Given the description of an element on the screen output the (x, y) to click on. 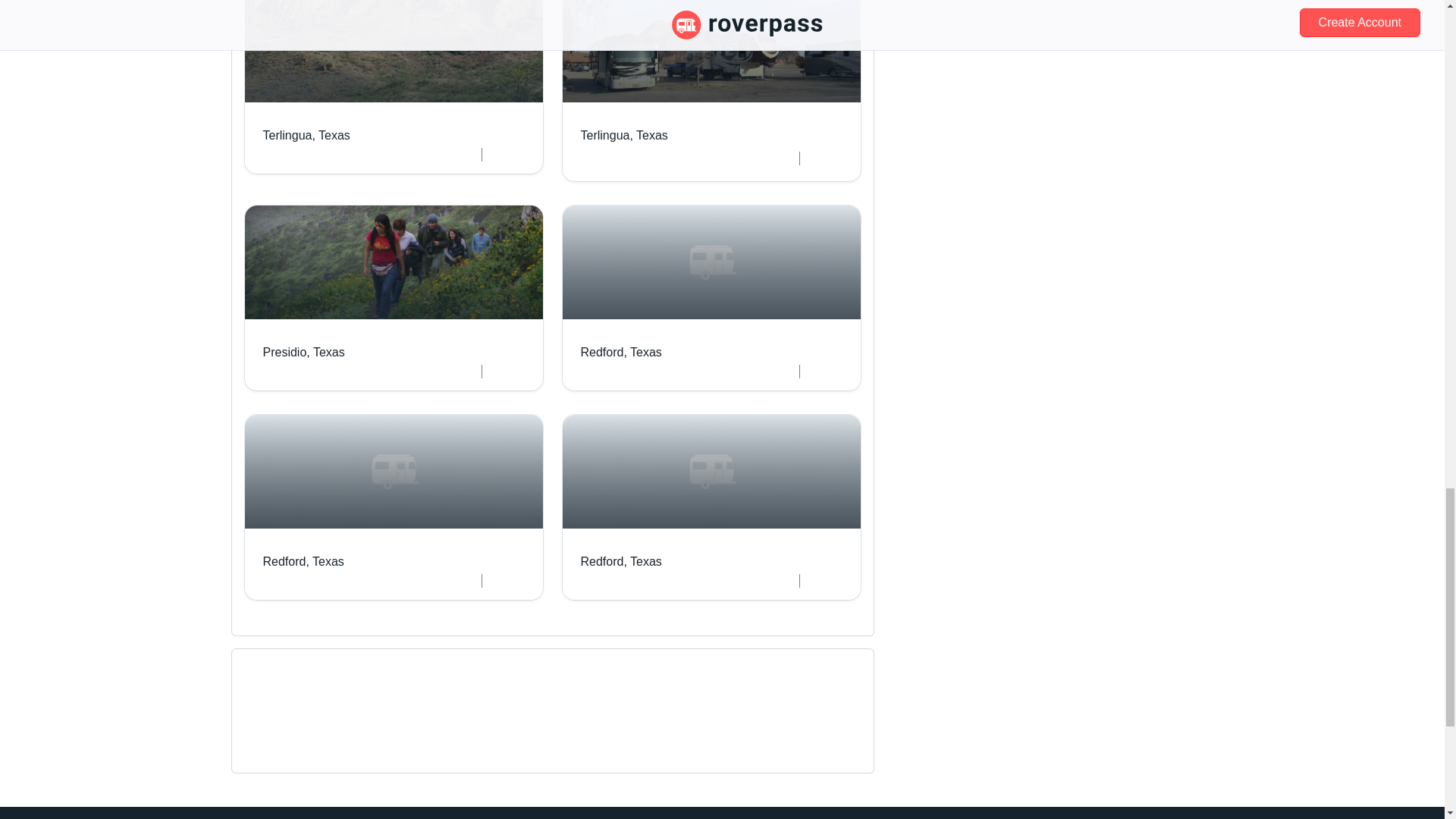
Lajitas RV Parks (288, 720)
Presidio RV Parks (393, 87)
Terlingua RV Parks (710, 297)
